Given the description of an element on the screen output the (x, y) to click on. 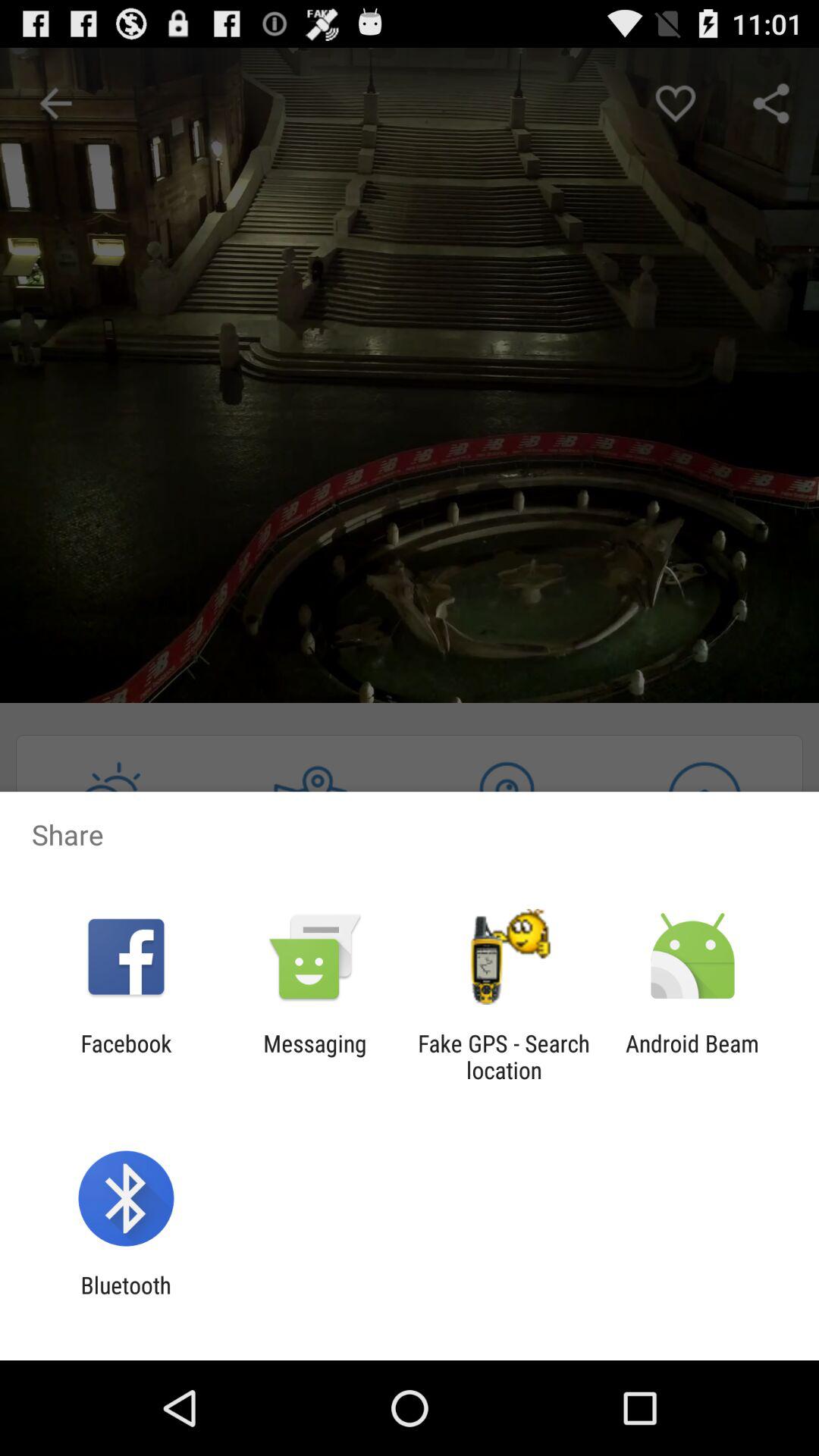
click bluetooth icon (125, 1298)
